Given the description of an element on the screen output the (x, y) to click on. 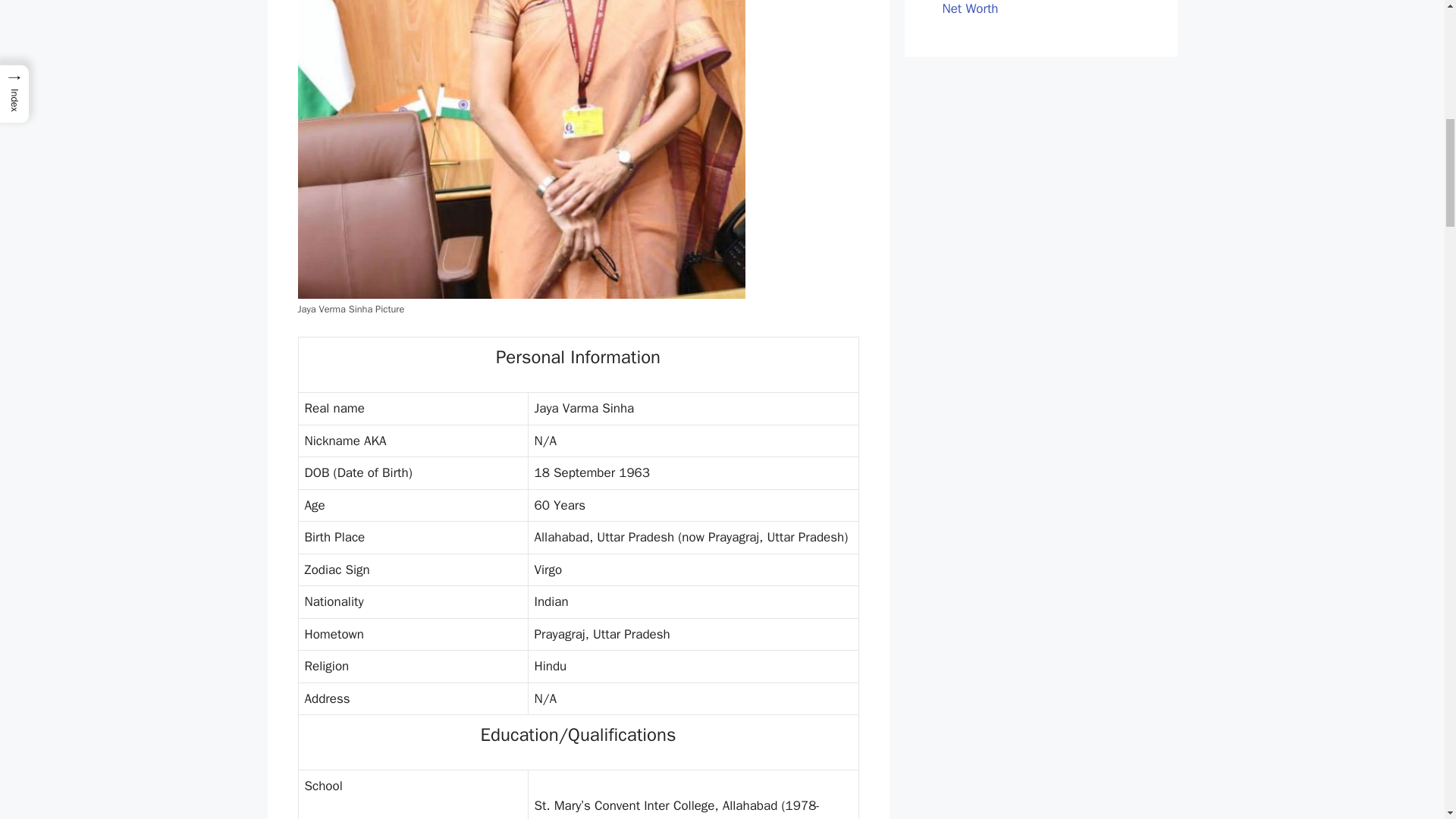
Net Worth (969, 9)
